Given the description of an element on the screen output the (x, y) to click on. 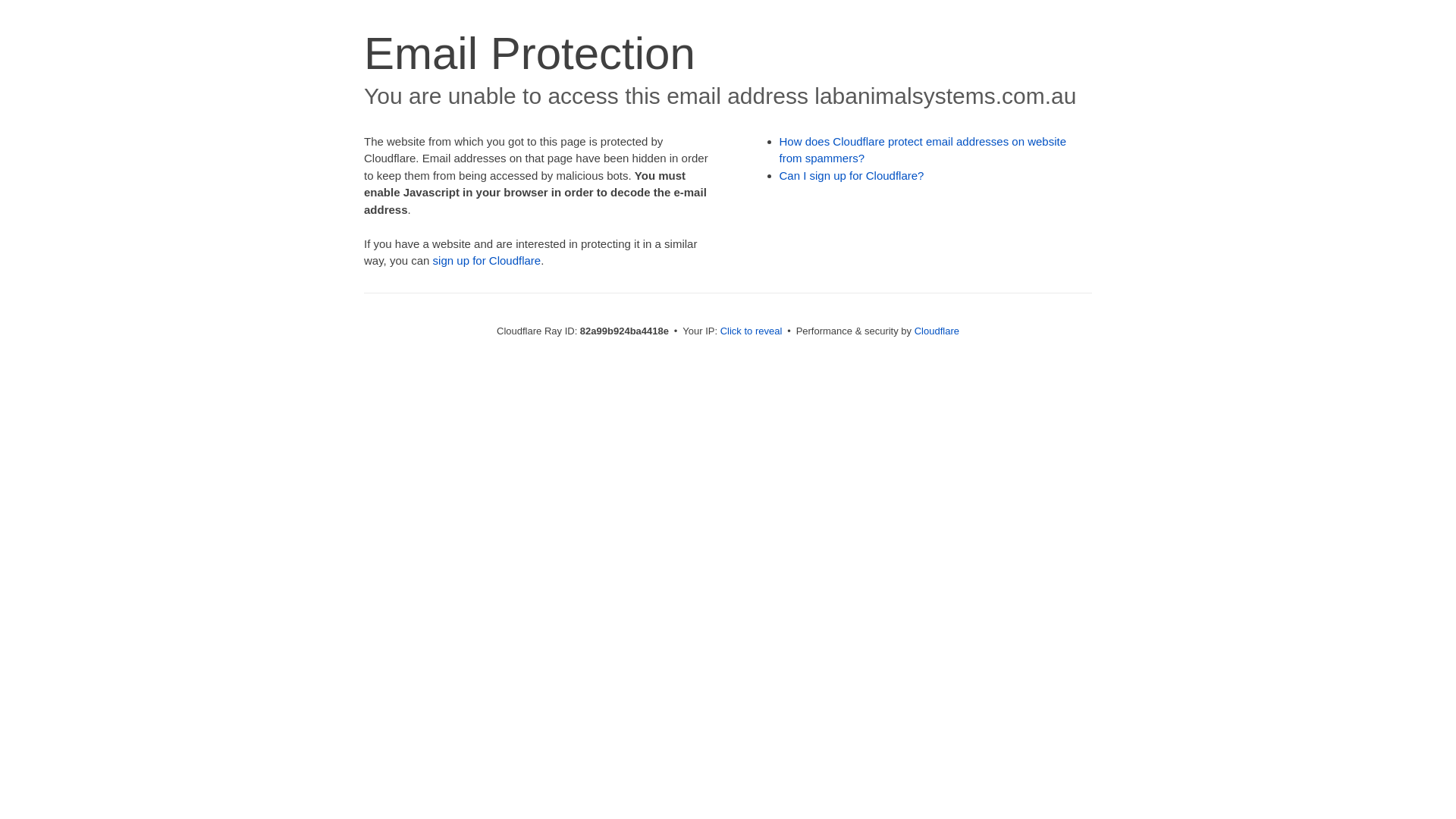
Click to reveal Element type: text (751, 330)
Cloudflare Element type: text (936, 330)
sign up for Cloudflare Element type: text (487, 260)
Can I sign up for Cloudflare? Element type: text (851, 175)
